Given the description of an element on the screen output the (x, y) to click on. 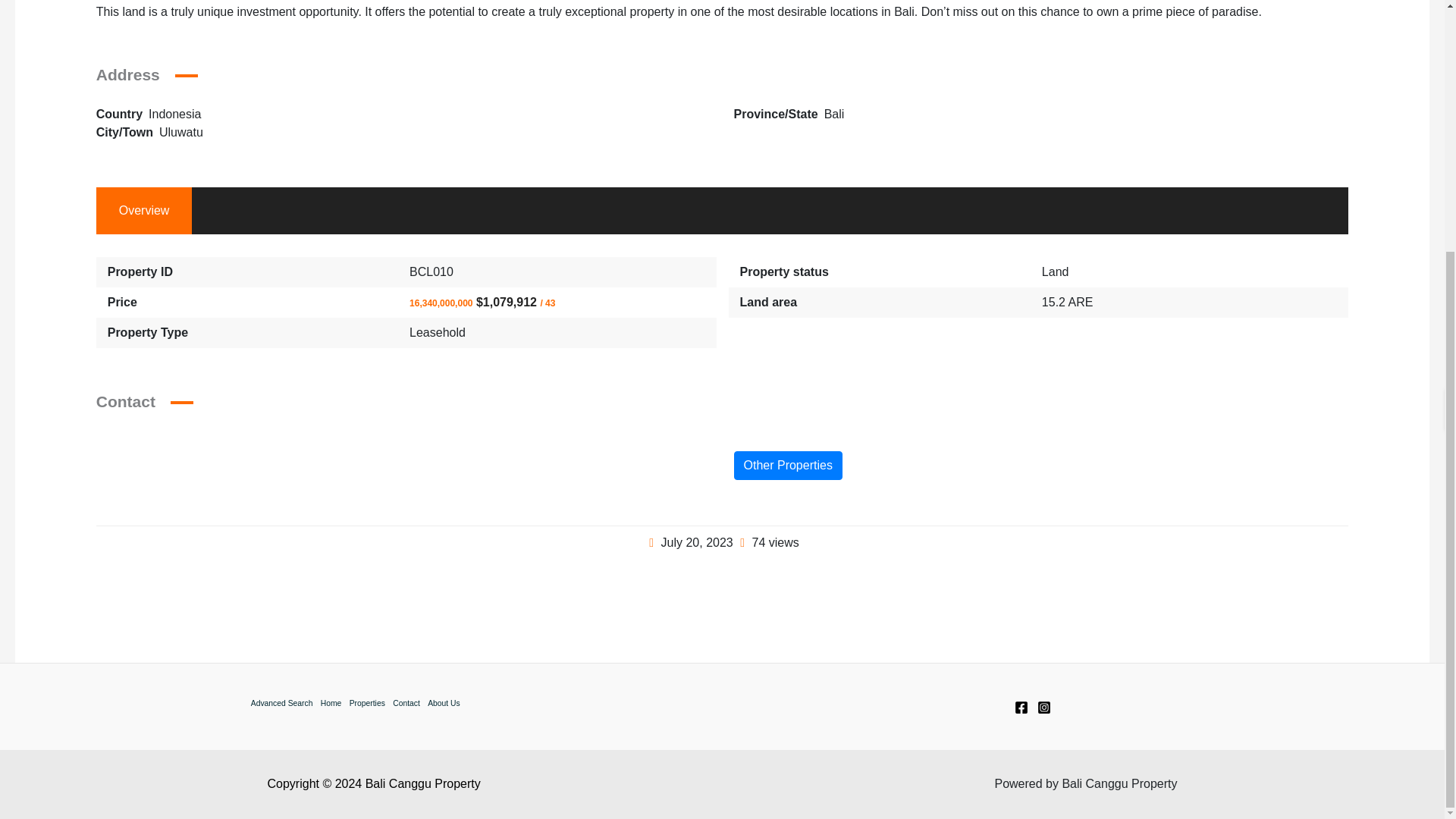
Bali (834, 113)
